Given the description of an element on the screen output the (x, y) to click on. 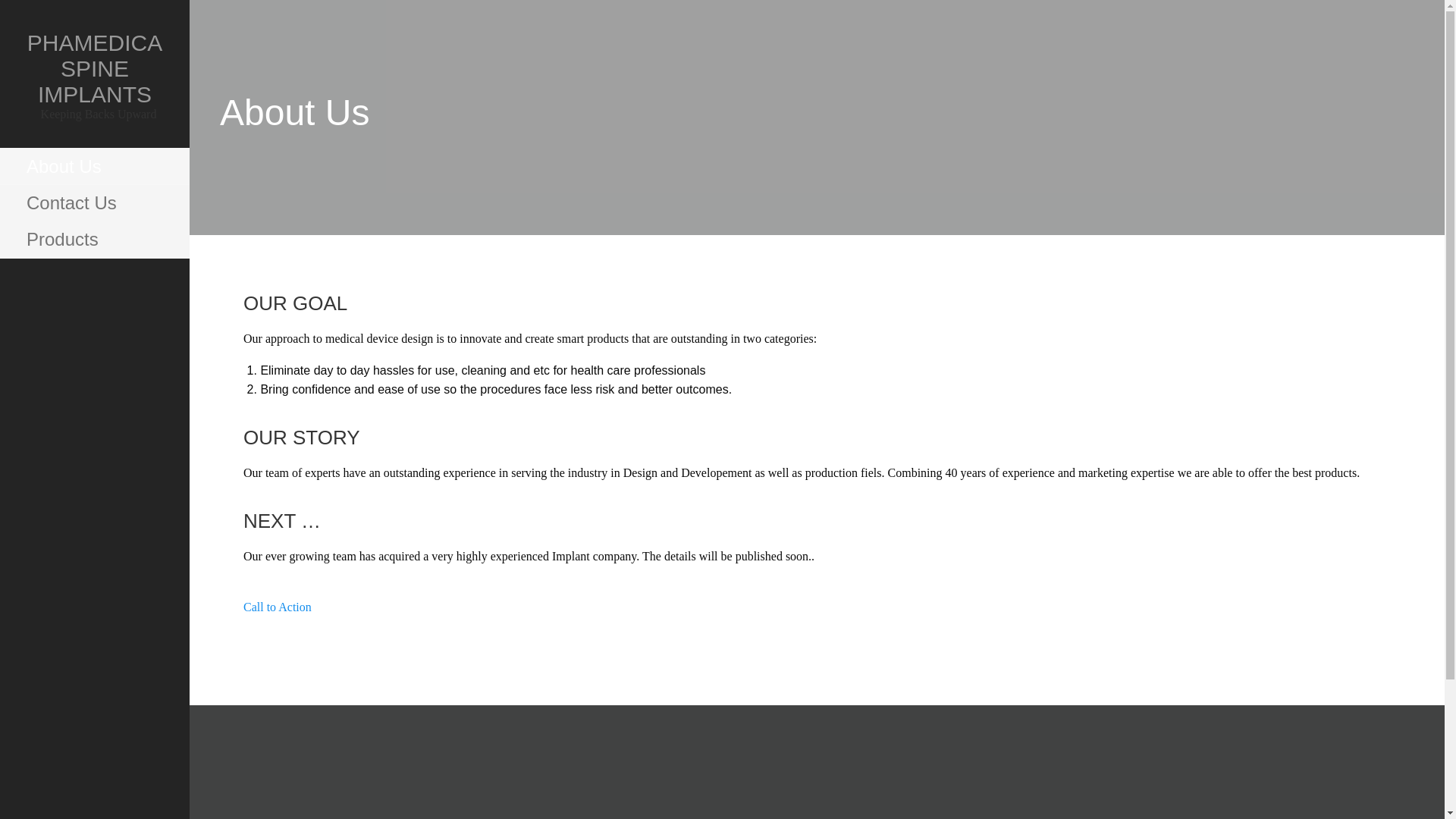
PHAMEDICA SPINE IMPLANTS (94, 68)
Products (94, 239)
About Us (94, 166)
Contact Us (94, 203)
Call to Action (277, 616)
